Given the description of an element on the screen output the (x, y) to click on. 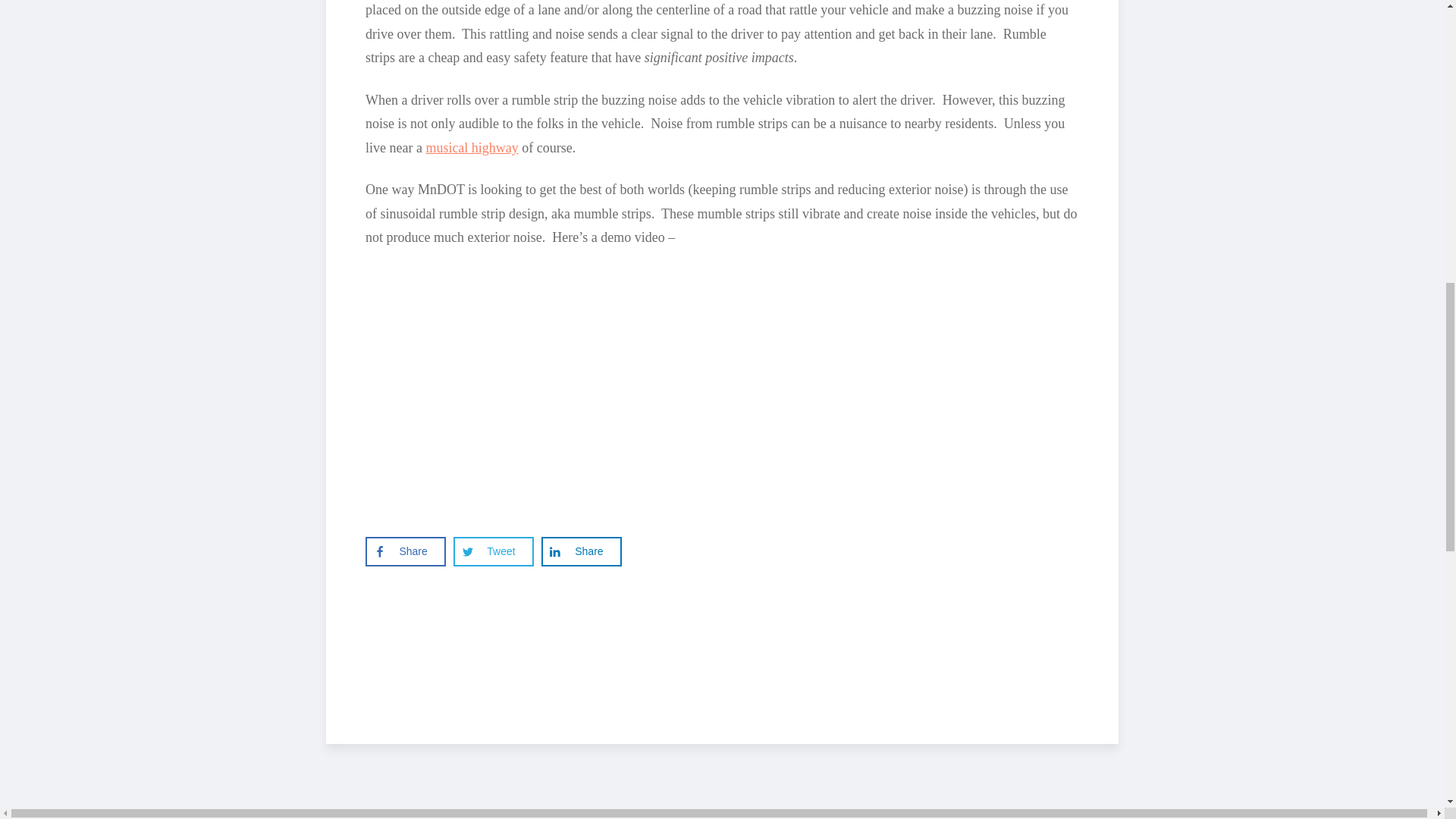
musical highway (471, 147)
Share (581, 551)
Tweet (493, 551)
Share (405, 551)
